Given the description of an element on the screen output the (x, y) to click on. 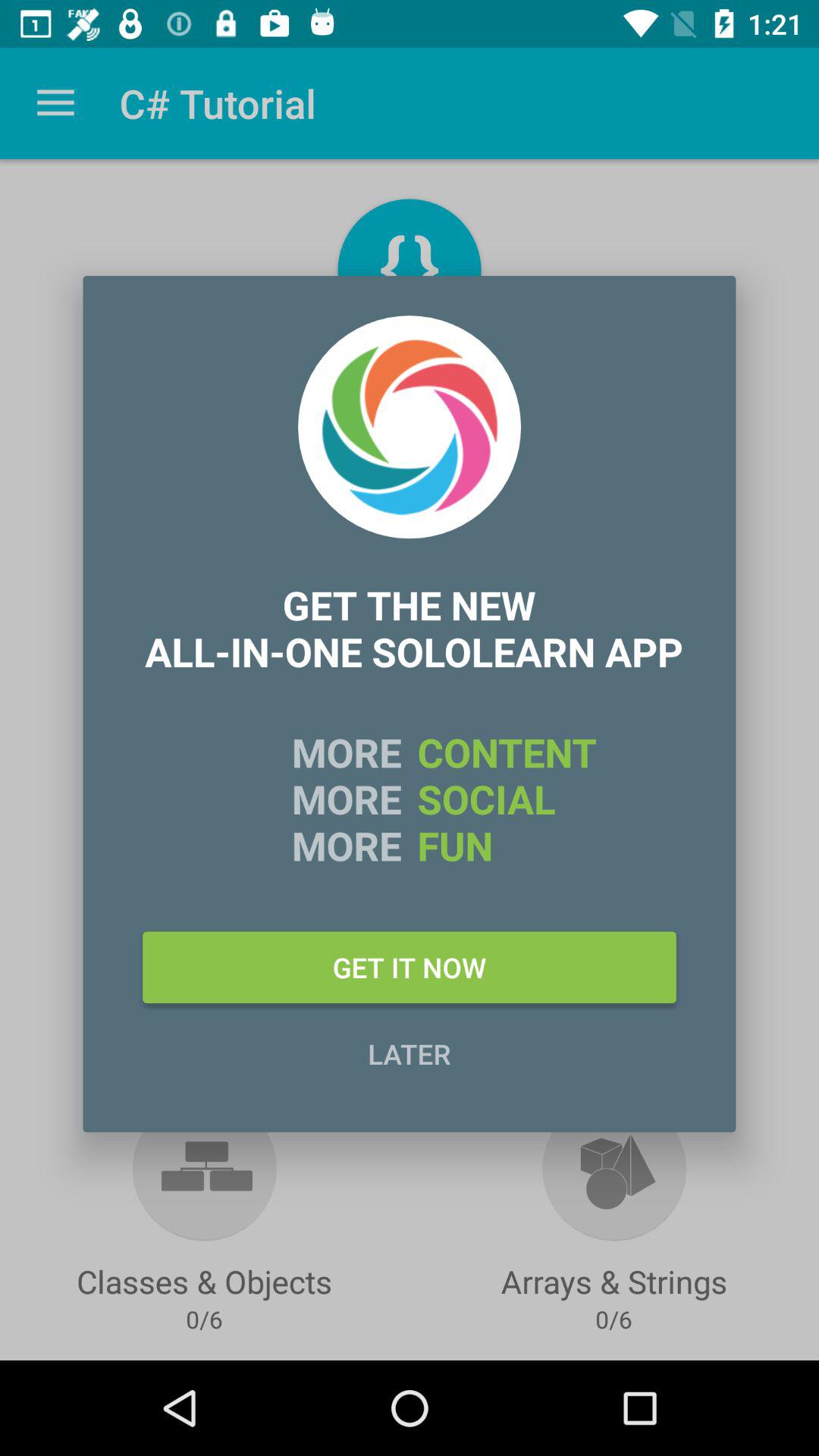
launch the item below get it now item (409, 1053)
